Given the description of an element on the screen output the (x, y) to click on. 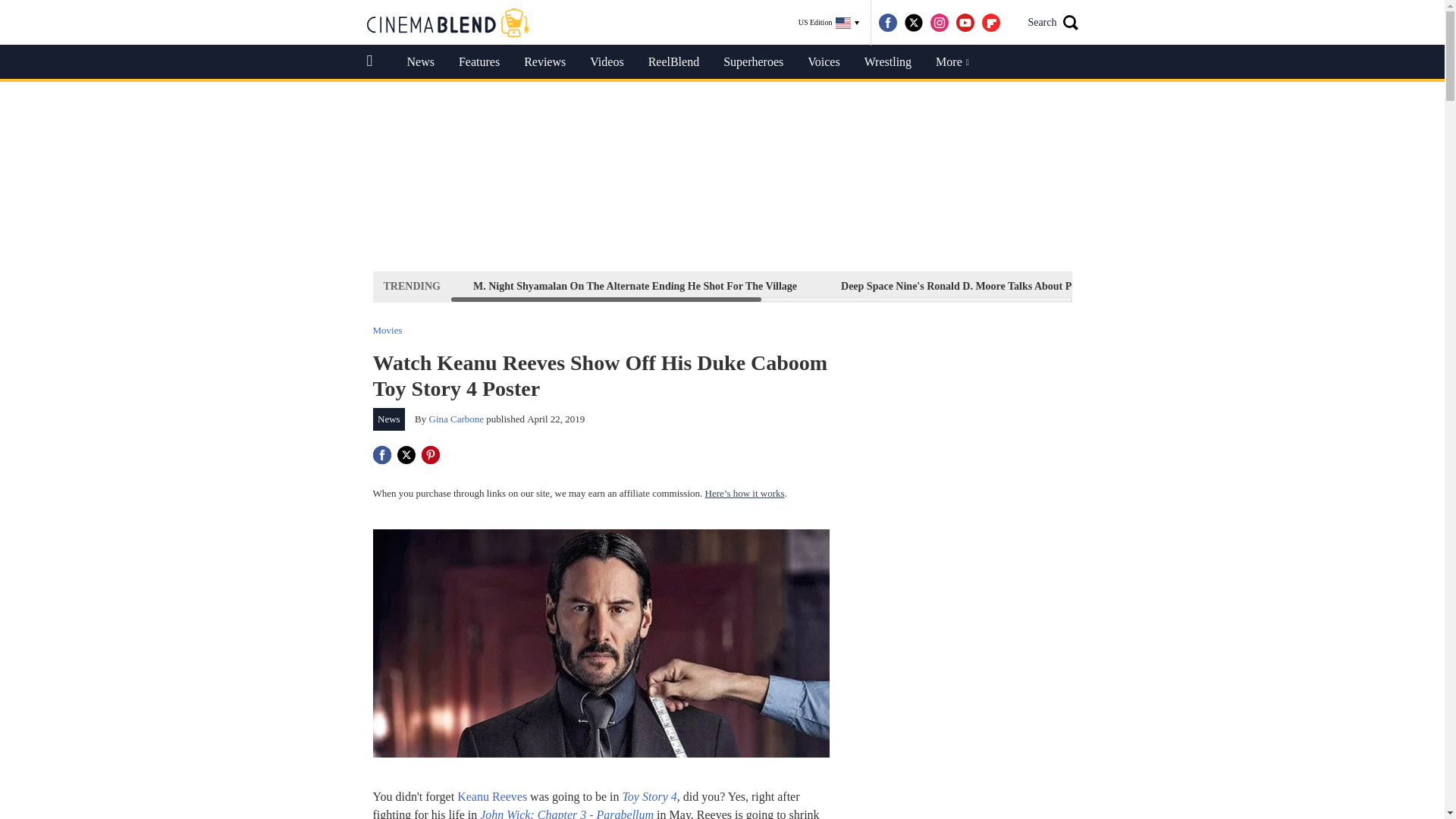
News (419, 61)
Movies (387, 329)
Voices (822, 61)
2024 Upcoming Movies (1297, 286)
Wrestling (887, 61)
Features (479, 61)
US Edition (828, 22)
Superheroes (752, 61)
